Given the description of an element on the screen output the (x, y) to click on. 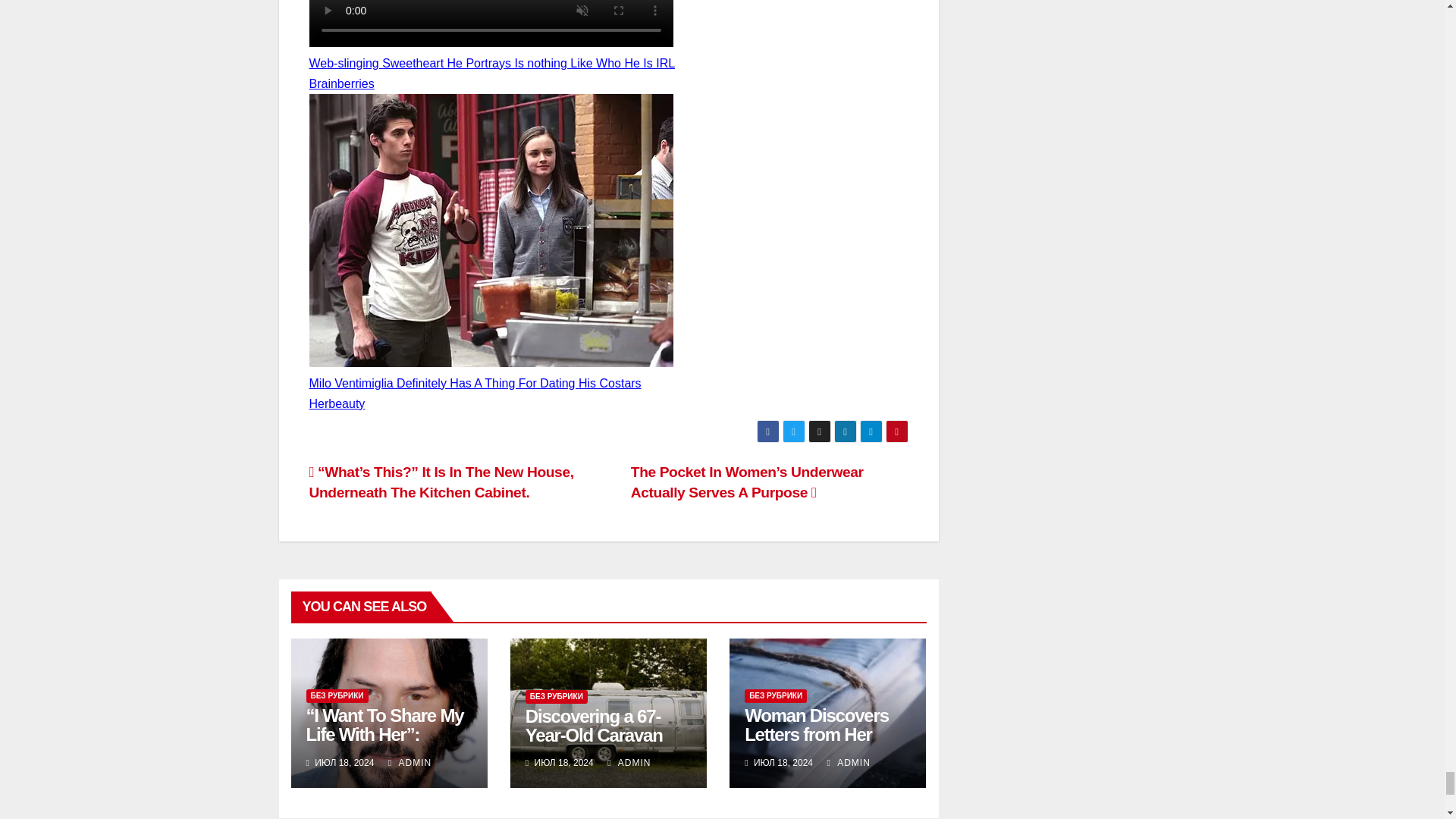
ADMIN (848, 762)
ADMIN (409, 762)
Discovering a 67-Year-Old Caravan (593, 725)
ADMIN (628, 762)
Permalink to: Discovering a 67-Year-Old Caravan (593, 725)
